Given the description of an element on the screen output the (x, y) to click on. 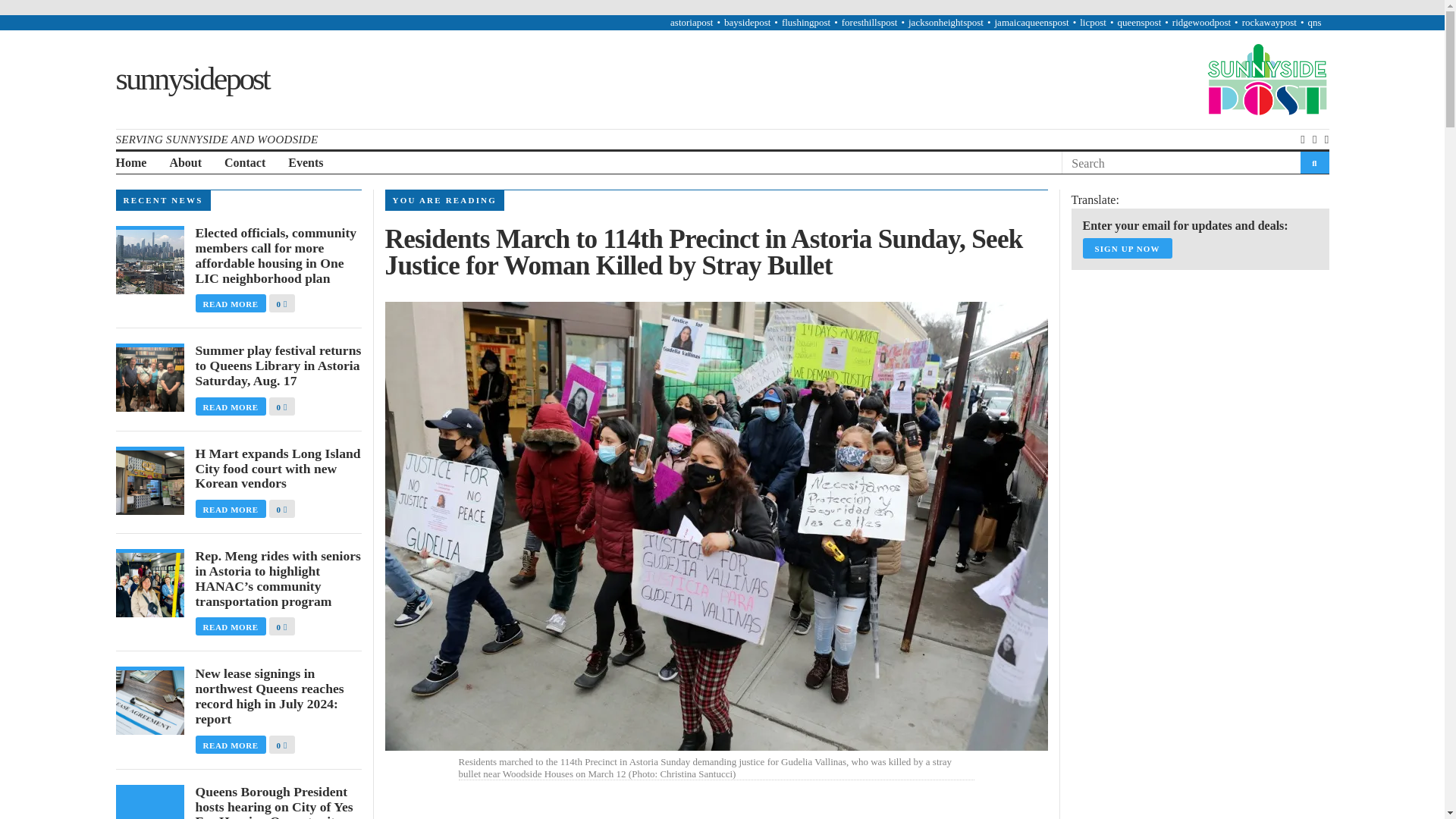
baysidepost (746, 21)
About (185, 163)
flushingpost (805, 21)
astoriapost (691, 21)
Contact (244, 163)
sunnysidepost (191, 78)
qns (1313, 21)
jacksonheightspost (946, 21)
queenspost (1138, 21)
jamaicaqueenspost (1031, 21)
